Given the description of an element on the screen output the (x, y) to click on. 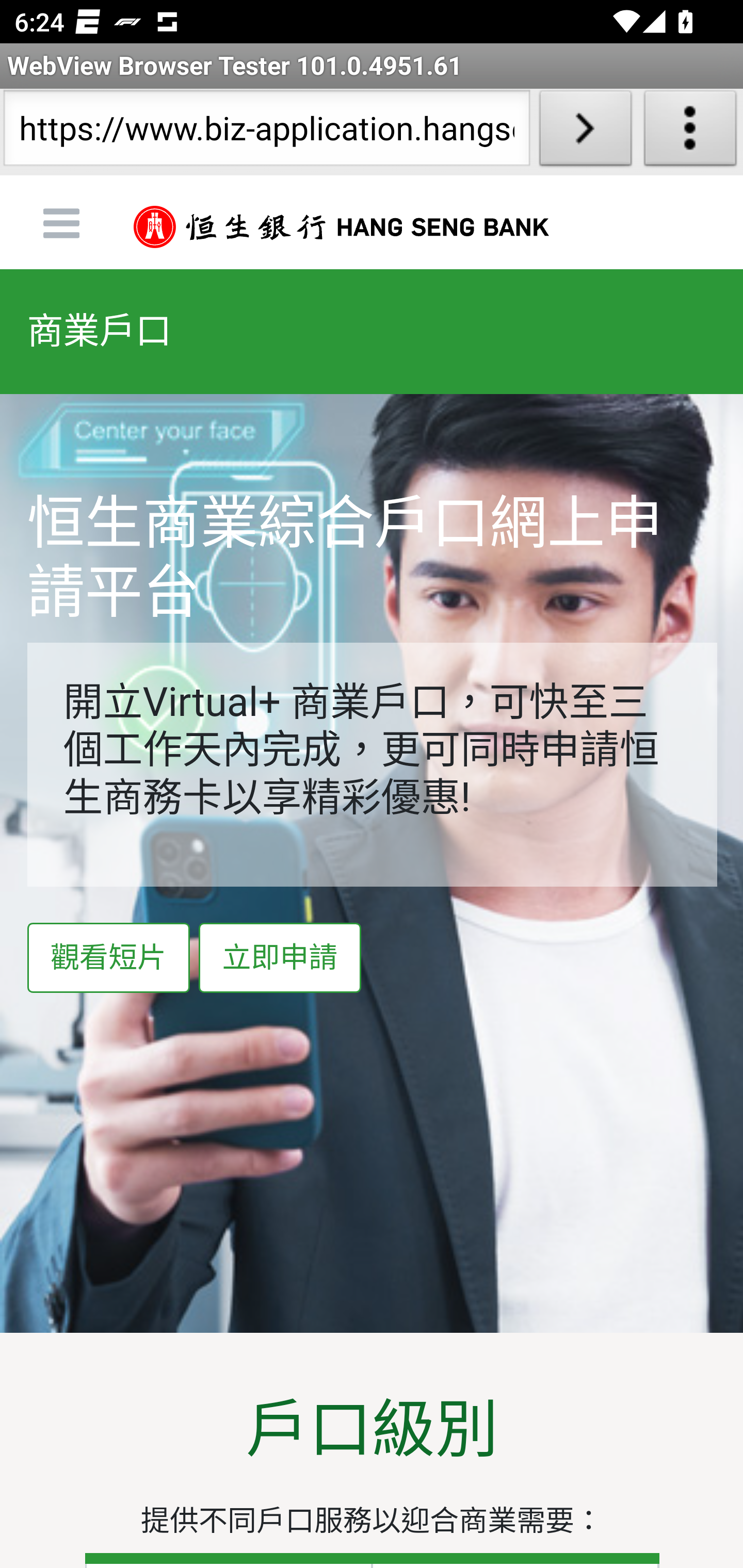
Load URL (585, 132)
About WebView (690, 132)
觀看短片 (108, 957)
立即申請 (280, 957)
